Given the description of an element on the screen output the (x, y) to click on. 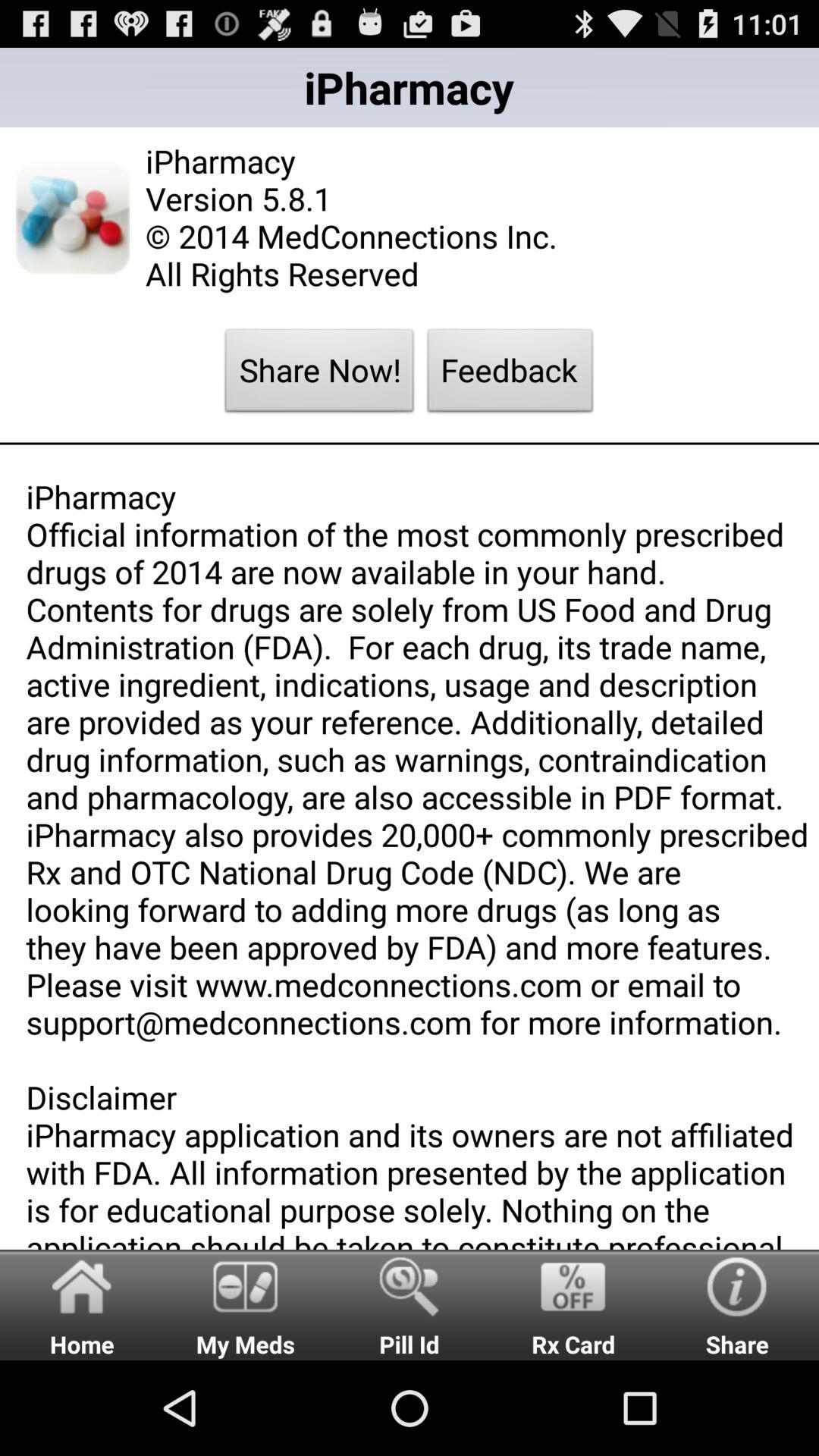
share (737, 1304)
click on feedback (509, 374)
click on share now (319, 374)
select the first image (72, 217)
